Given the description of an element on the screen output the (x, y) to click on. 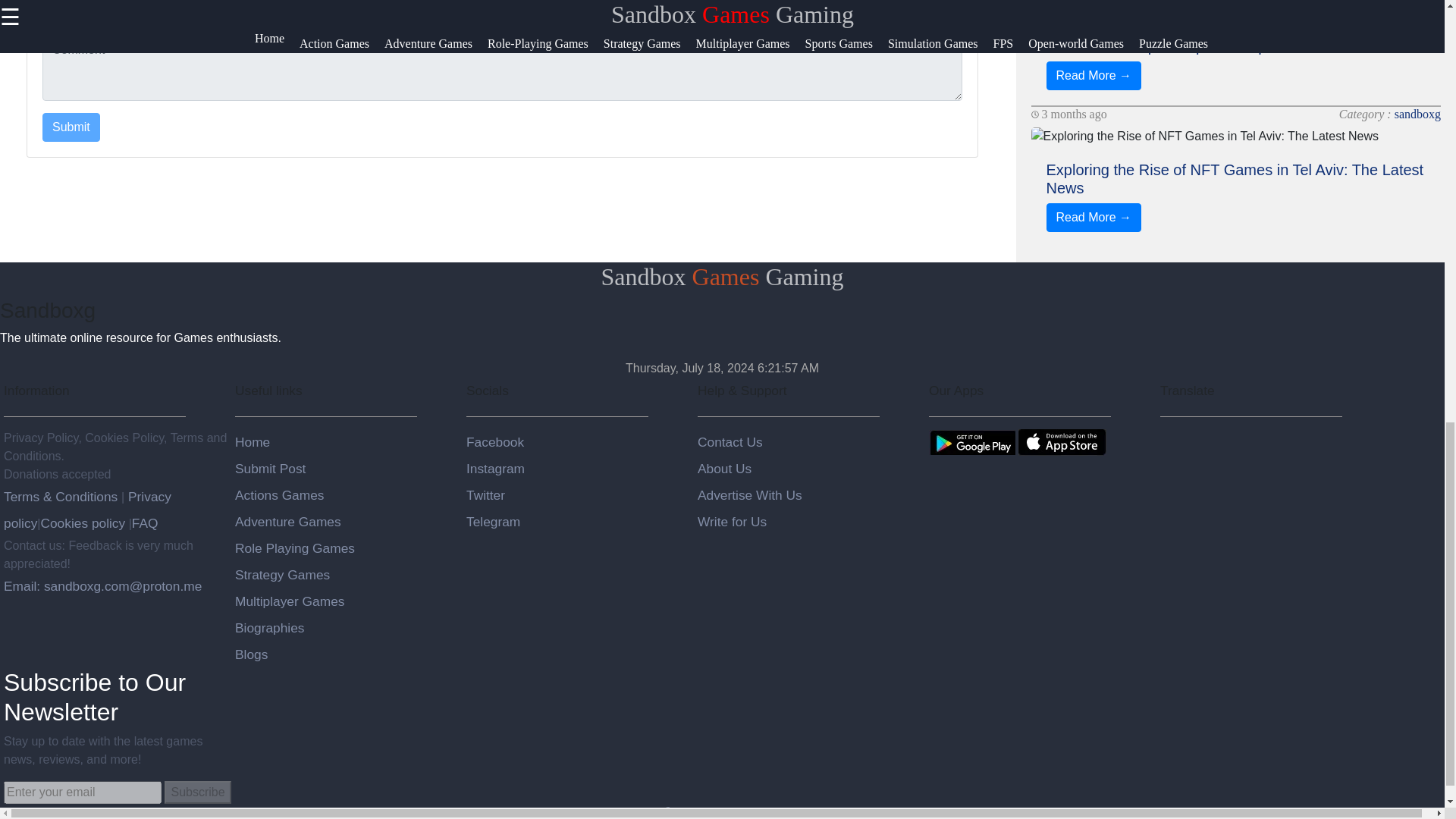
Submit (71, 127)
